Given the description of an element on the screen output the (x, y) to click on. 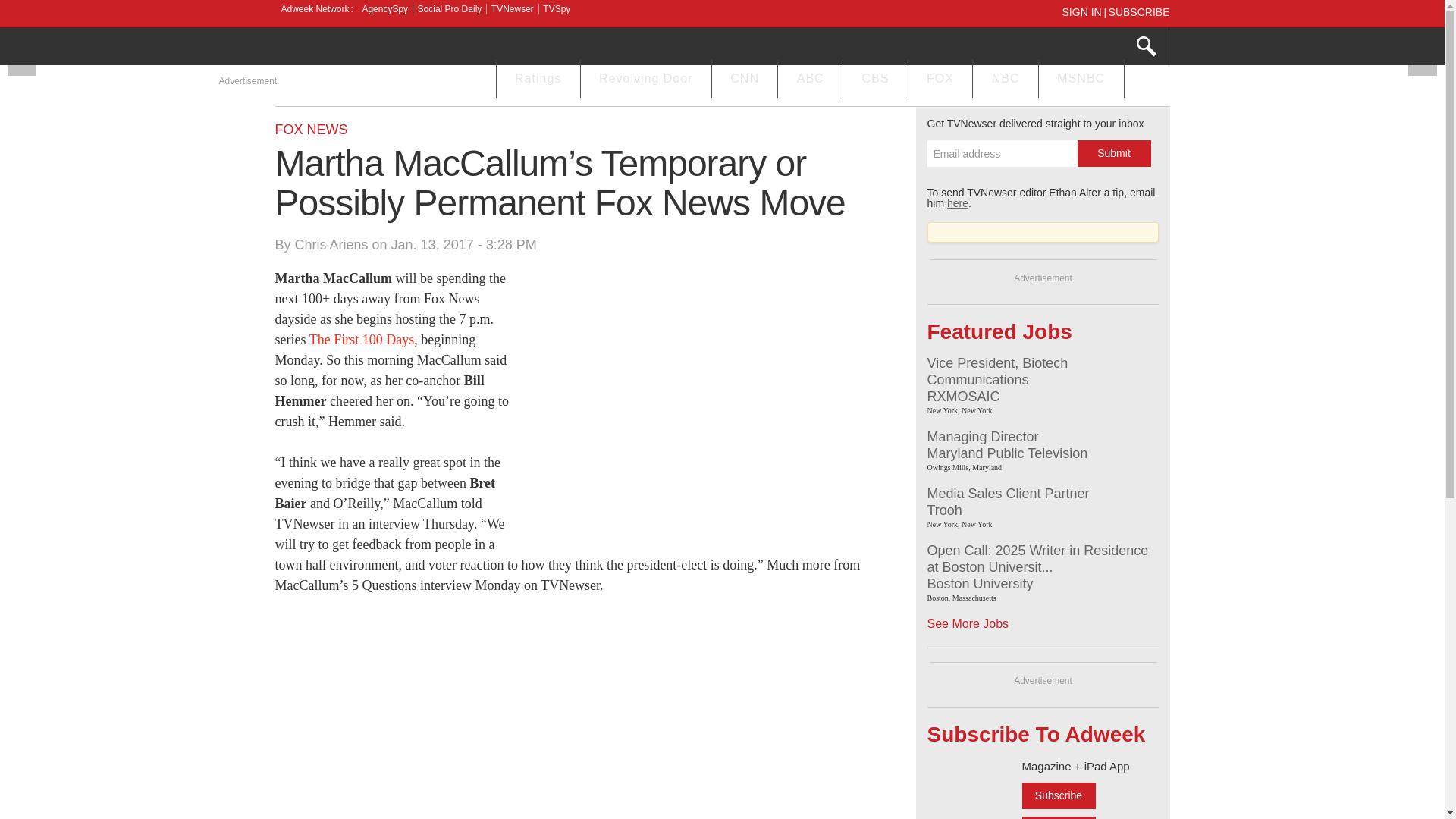
Submit (1113, 153)
Adweek Network (316, 9)
TVNewser (513, 9)
SUBSCRIBE (1139, 11)
FOX (940, 80)
AgencySpy (384, 9)
MSNBC (1081, 80)
Covering national television news (388, 47)
ABC (810, 80)
Social Pro Daily (449, 9)
